Given the description of an element on the screen output the (x, y) to click on. 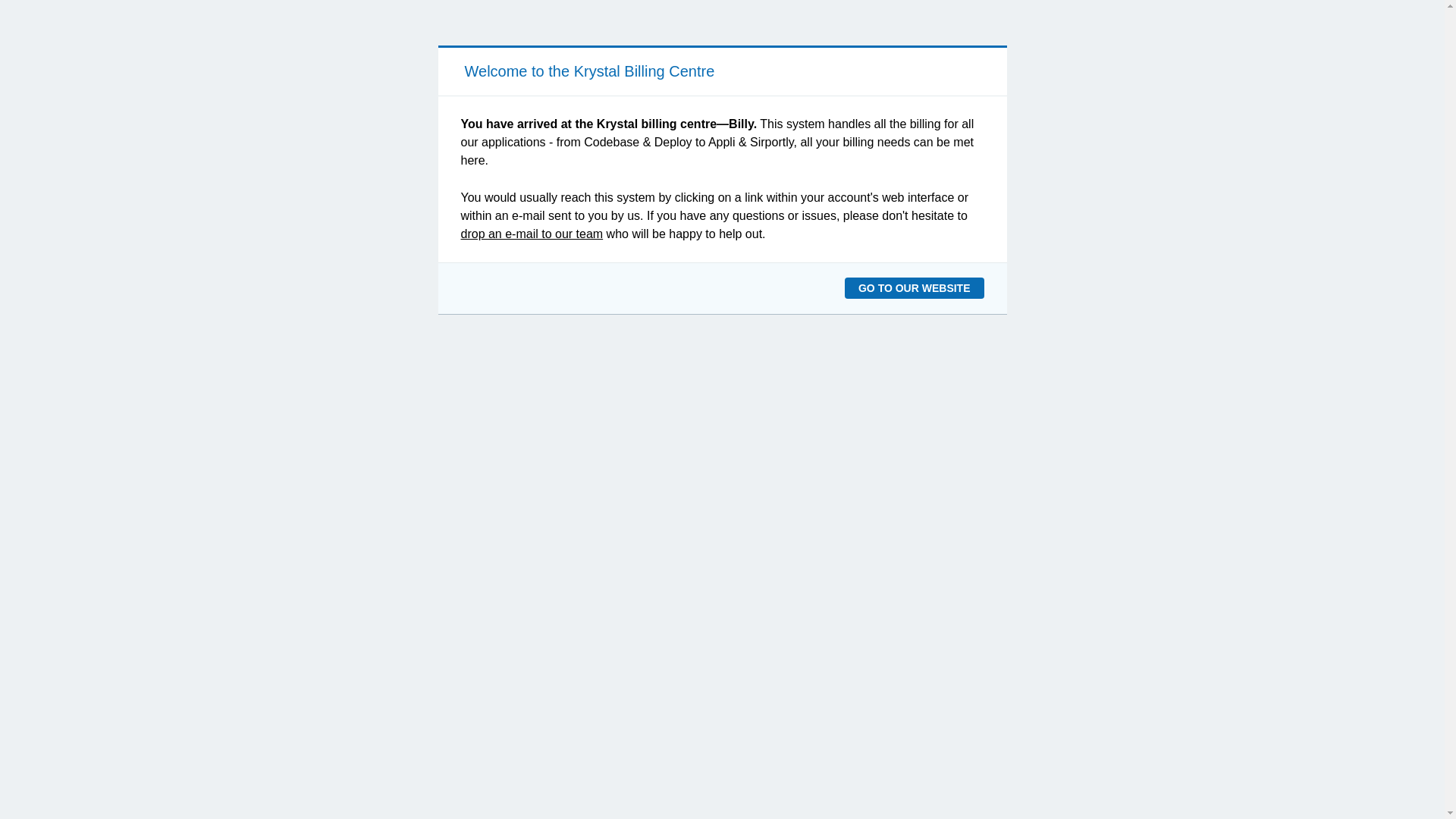
drop an e-mail to our team (532, 233)
